Given the description of an element on the screen output the (x, y) to click on. 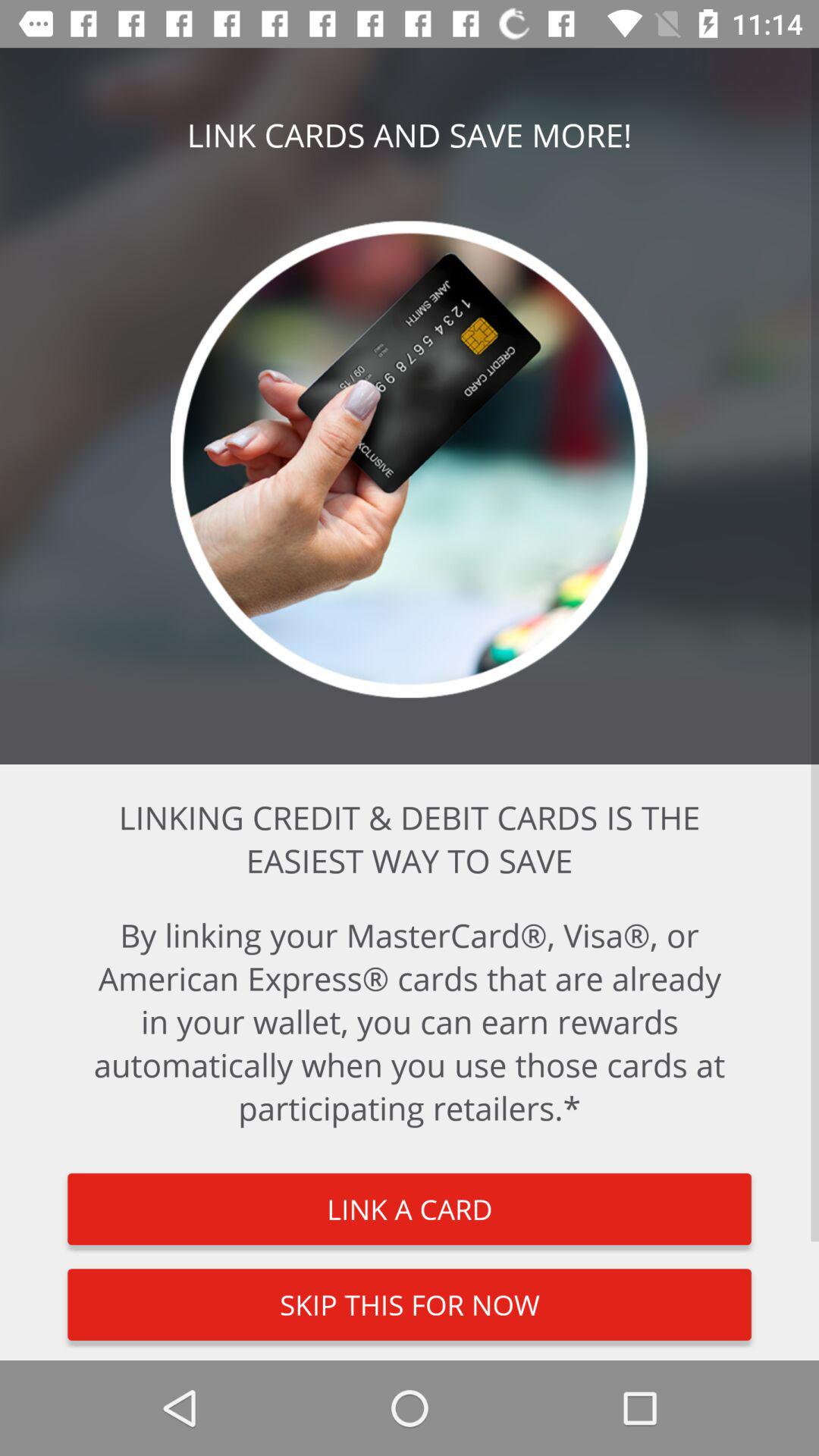
open item above skip this for (409, 1208)
